Given the description of an element on the screen output the (x, y) to click on. 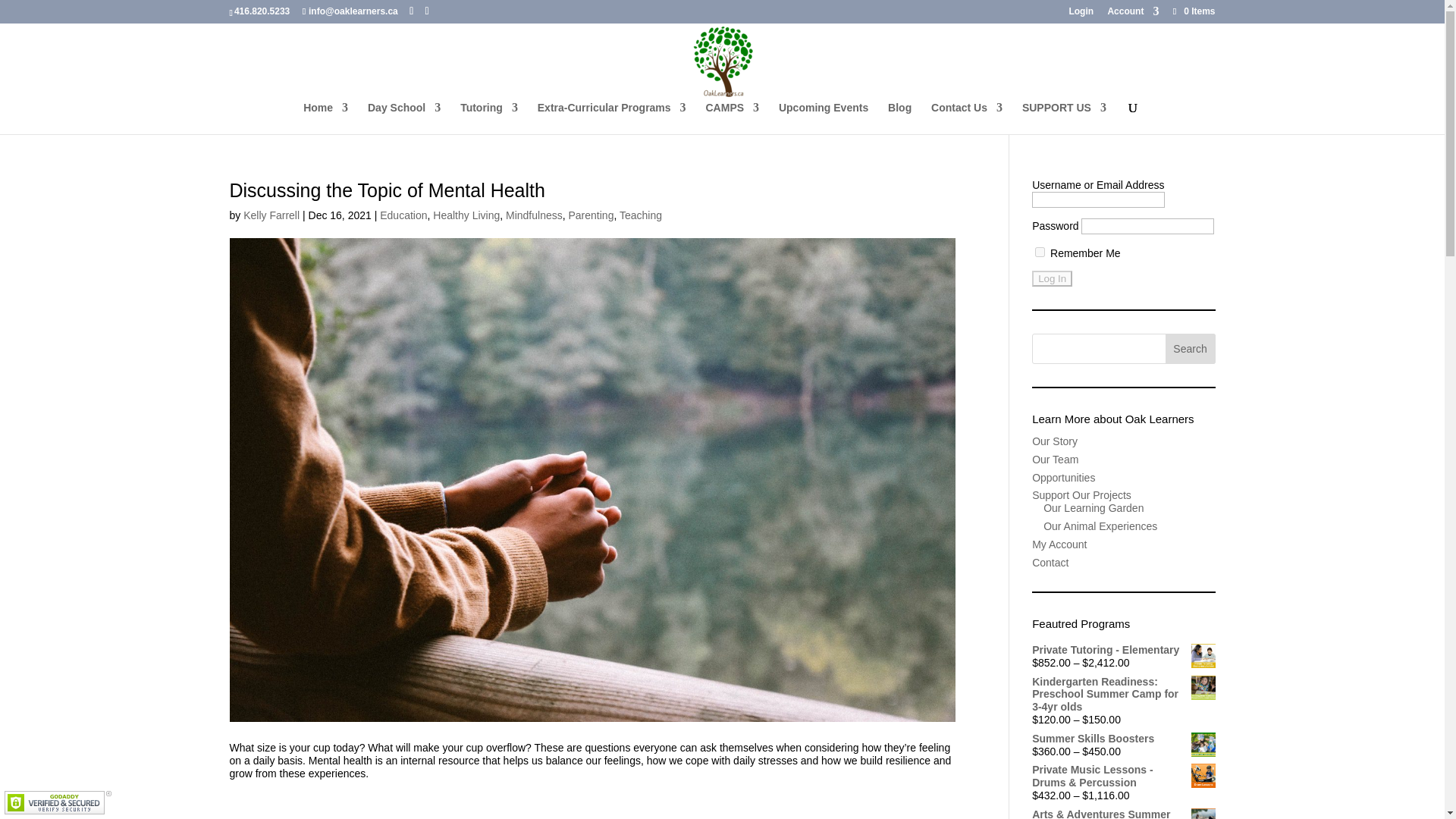
Account (1132, 14)
Home (324, 118)
Extra-Curricular Programs (611, 118)
forever (1040, 252)
Day School (404, 118)
Posts by Kelly Farrell (271, 215)
Log In (1051, 278)
Login (1080, 14)
Search (1190, 348)
0 Items (1192, 10)
Tutoring (489, 118)
